Given the description of an element on the screen output the (x, y) to click on. 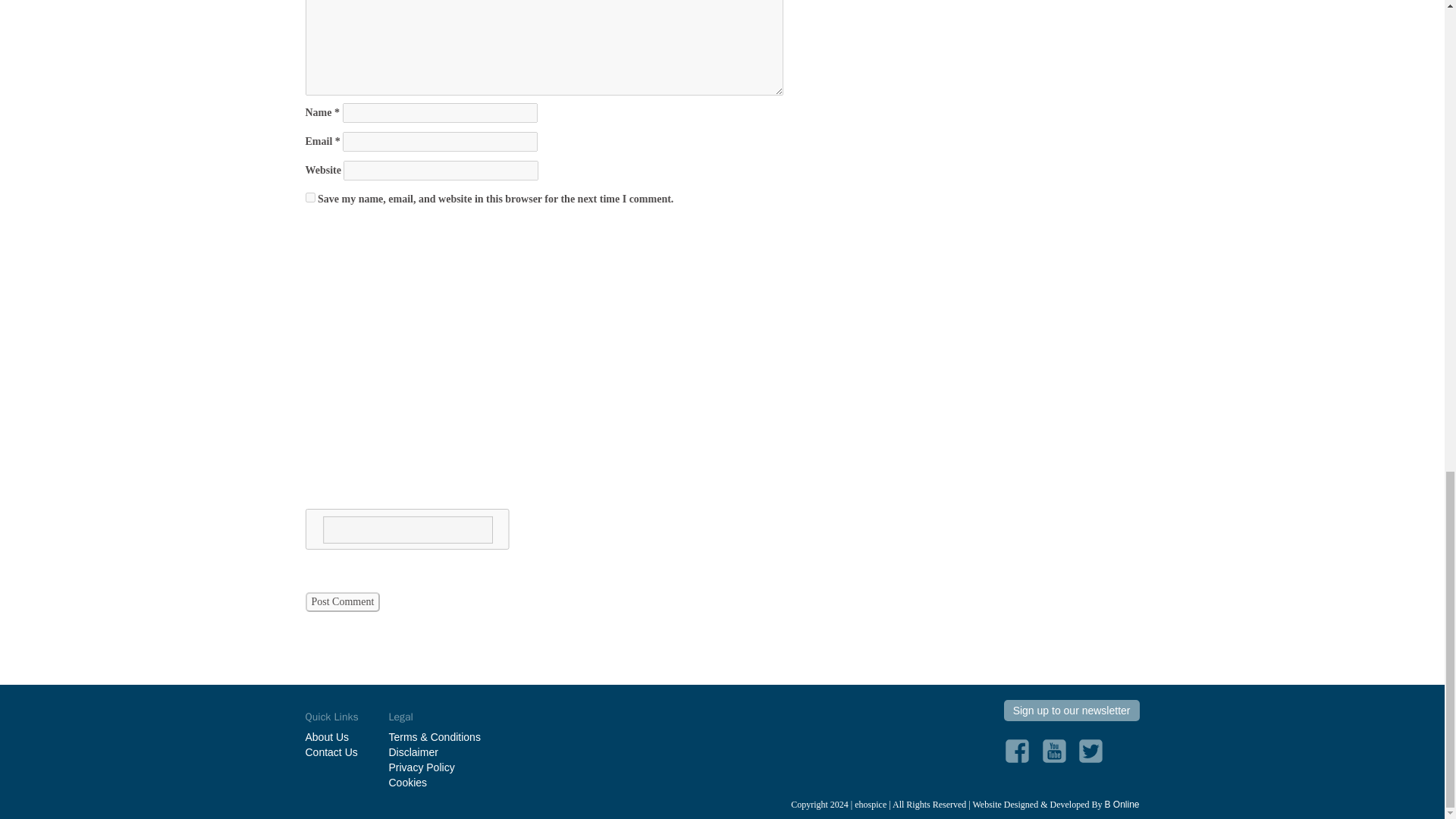
Post Comment (342, 601)
yes (309, 197)
